Given the description of an element on the screen output the (x, y) to click on. 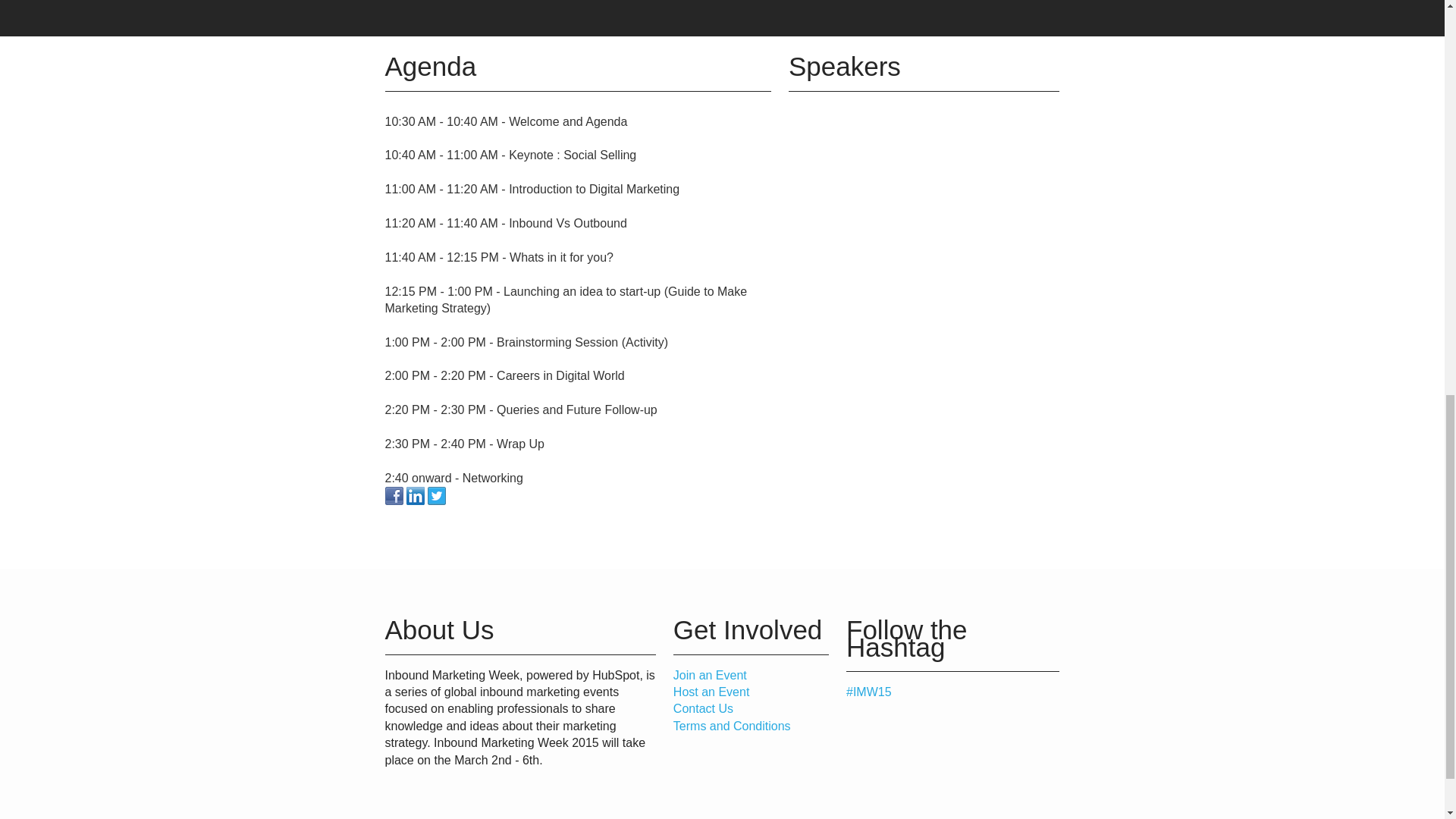
Host an Event (710, 691)
Terms and Conditions (731, 725)
Join an Event (709, 675)
Contact Us (702, 707)
